Given the description of an element on the screen output the (x, y) to click on. 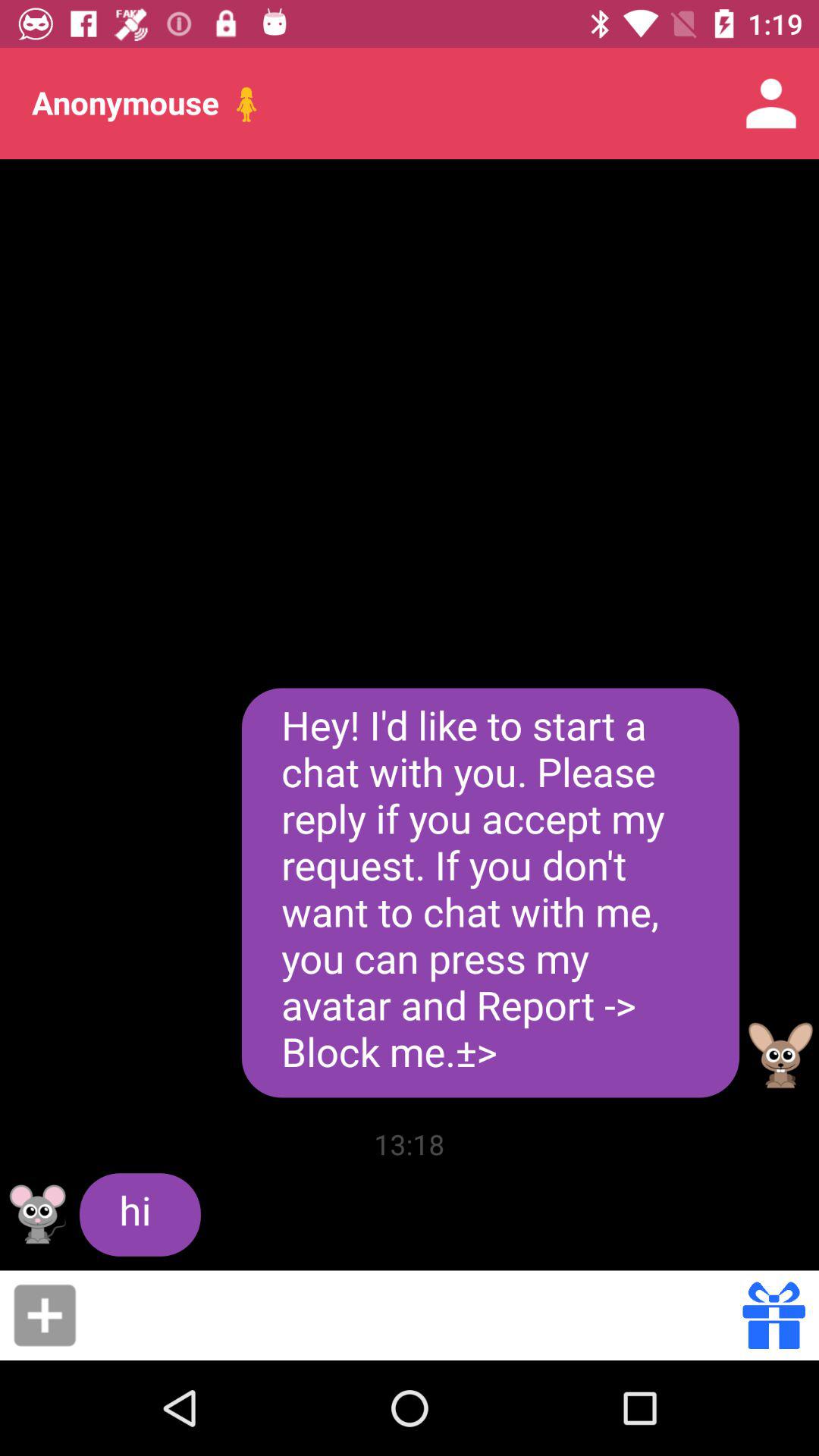
space to type (414, 1315)
